Given the description of an element on the screen output the (x, y) to click on. 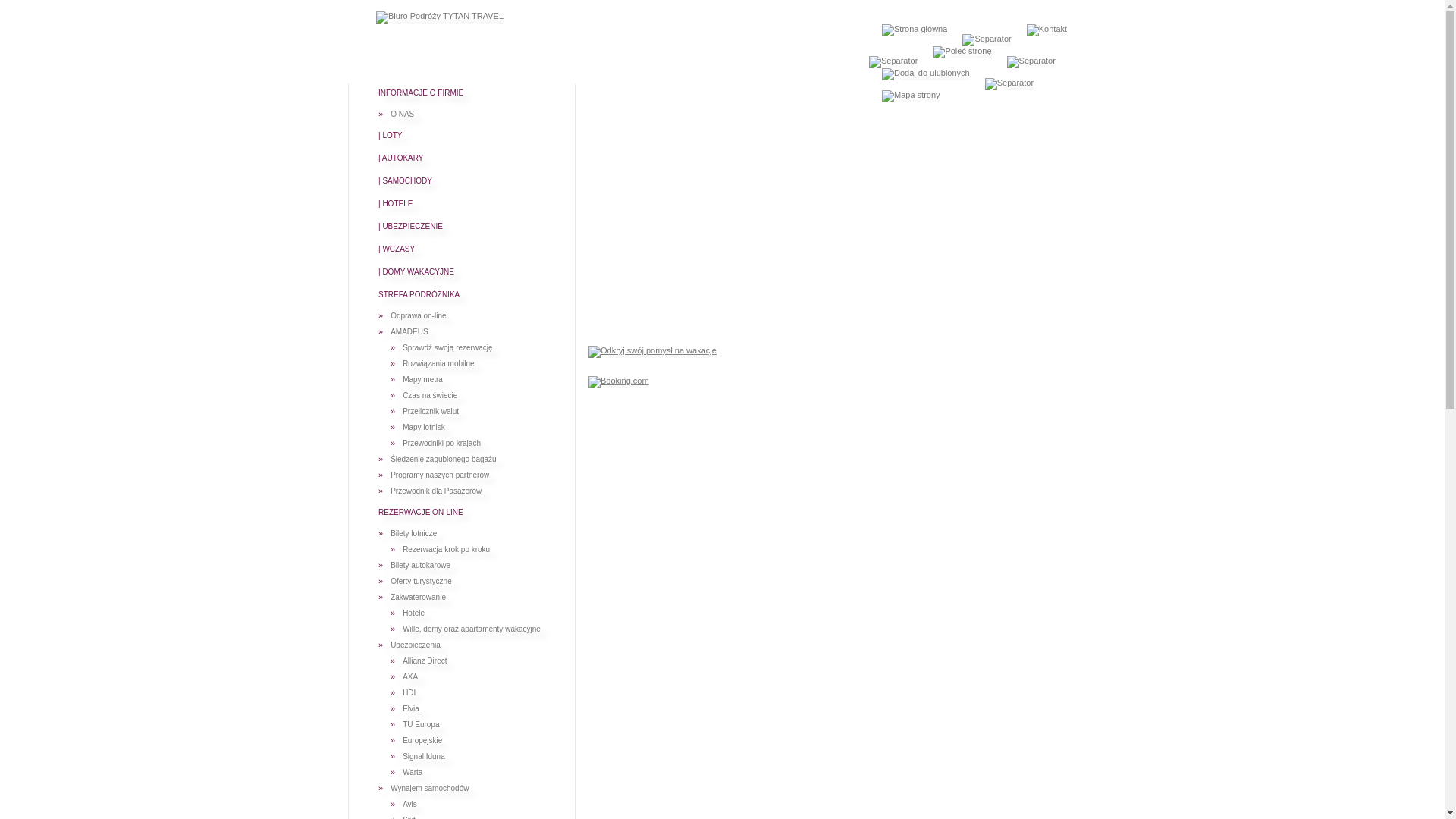
Przewodniki po krajach Element type: text (441, 443)
Europejskie Element type: text (422, 740)
Elvia Element type: text (410, 708)
Bilety lotnicze Element type: text (413, 533)
Warta Element type: text (412, 772)
Hotele Element type: text (413, 613)
| HOTELE Element type: text (395, 203)
| LOTY Element type: text (390, 135)
TU Europa Element type: text (420, 724)
O NAS Element type: text (402, 114)
| SAMOCHODY Element type: text (405, 180)
Allianz Direct Element type: text (424, 660)
HDI Element type: text (408, 692)
Avis Element type: text (409, 804)
Booking.com Element type: hover (618, 382)
Mapa strony Element type: hover (910, 96)
Oferty turystyczne Element type: text (420, 581)
AMADEUS Element type: text (408, 331)
| WCZASY Element type: text (396, 248)
Zakwaterowanie Element type: text (417, 597)
| DOMY WAKACYJNE Element type: text (416, 271)
Dodaj do ulubionych Element type: hover (925, 74)
Signal Iduna Element type: text (423, 756)
Rezerwacja krok po kroku Element type: text (445, 549)
Mapy lotnisk Element type: text (423, 427)
Mapy metra Element type: text (422, 379)
| UBEZPIECZENIE Element type: text (410, 226)
Ubezpieczenia Element type: text (415, 644)
Bilety autokarowe Element type: text (420, 565)
Kontakt Element type: hover (1046, 30)
AXA Element type: text (409, 676)
| AUTOKARY Element type: text (400, 157)
Wille, domy oraz apartamenty wakacyjne Element type: text (471, 629)
Przelicznik walut Element type: text (430, 411)
Odprawa on-line Element type: text (417, 315)
